Given the description of an element on the screen output the (x, y) to click on. 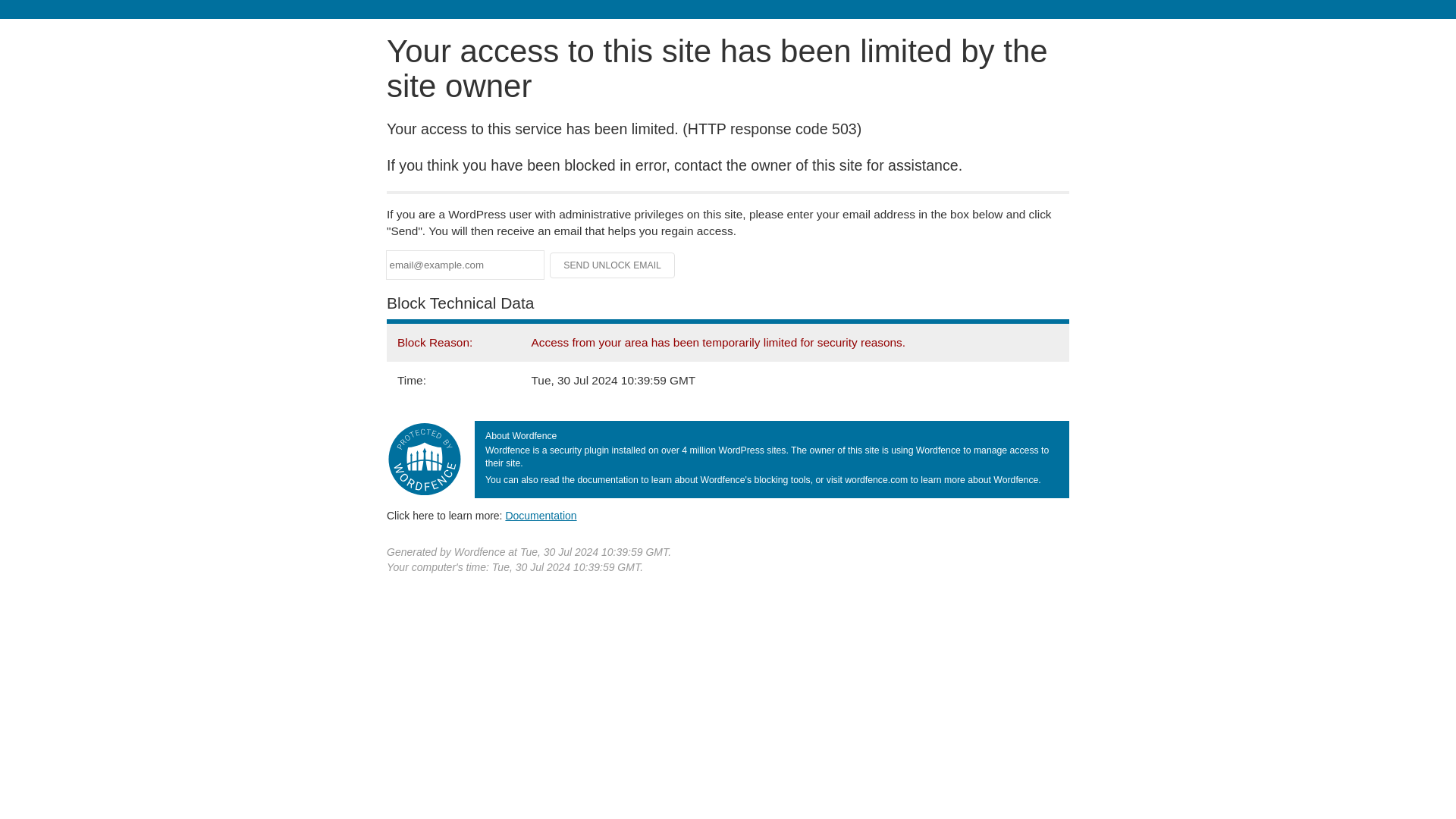
Send Unlock Email (612, 265)
Send Unlock Email (612, 265)
Documentation (540, 515)
